Given the description of an element on the screen output the (x, y) to click on. 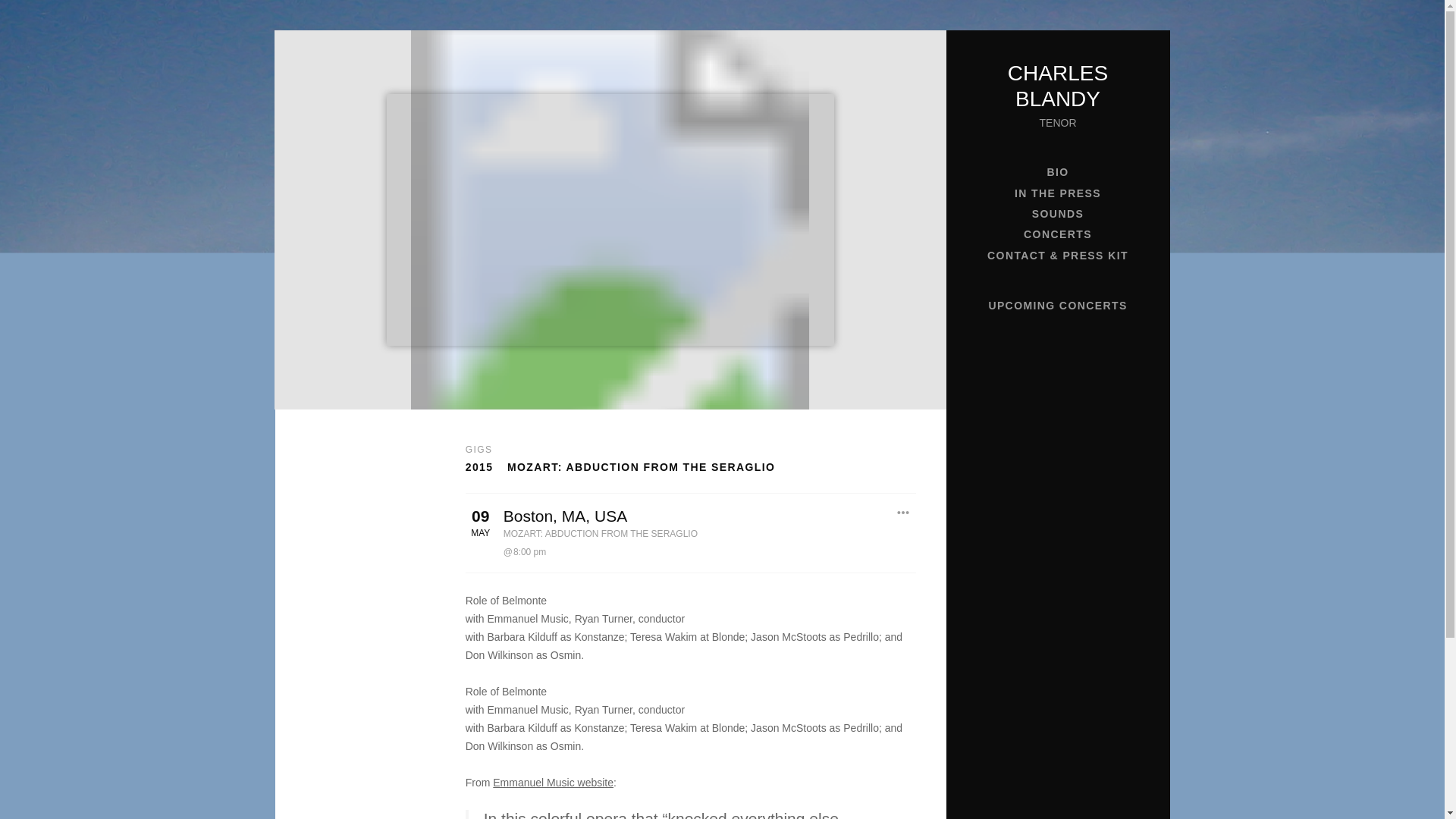
Emmanuel Music website (552, 782)
IN THE PRESS (1056, 193)
SOUNDS (1056, 213)
GIGS (479, 449)
CONCERTS (1056, 234)
CHARLES BLANDY (1057, 85)
BIO (1056, 172)
More (903, 513)
